Given the description of an element on the screen output the (x, y) to click on. 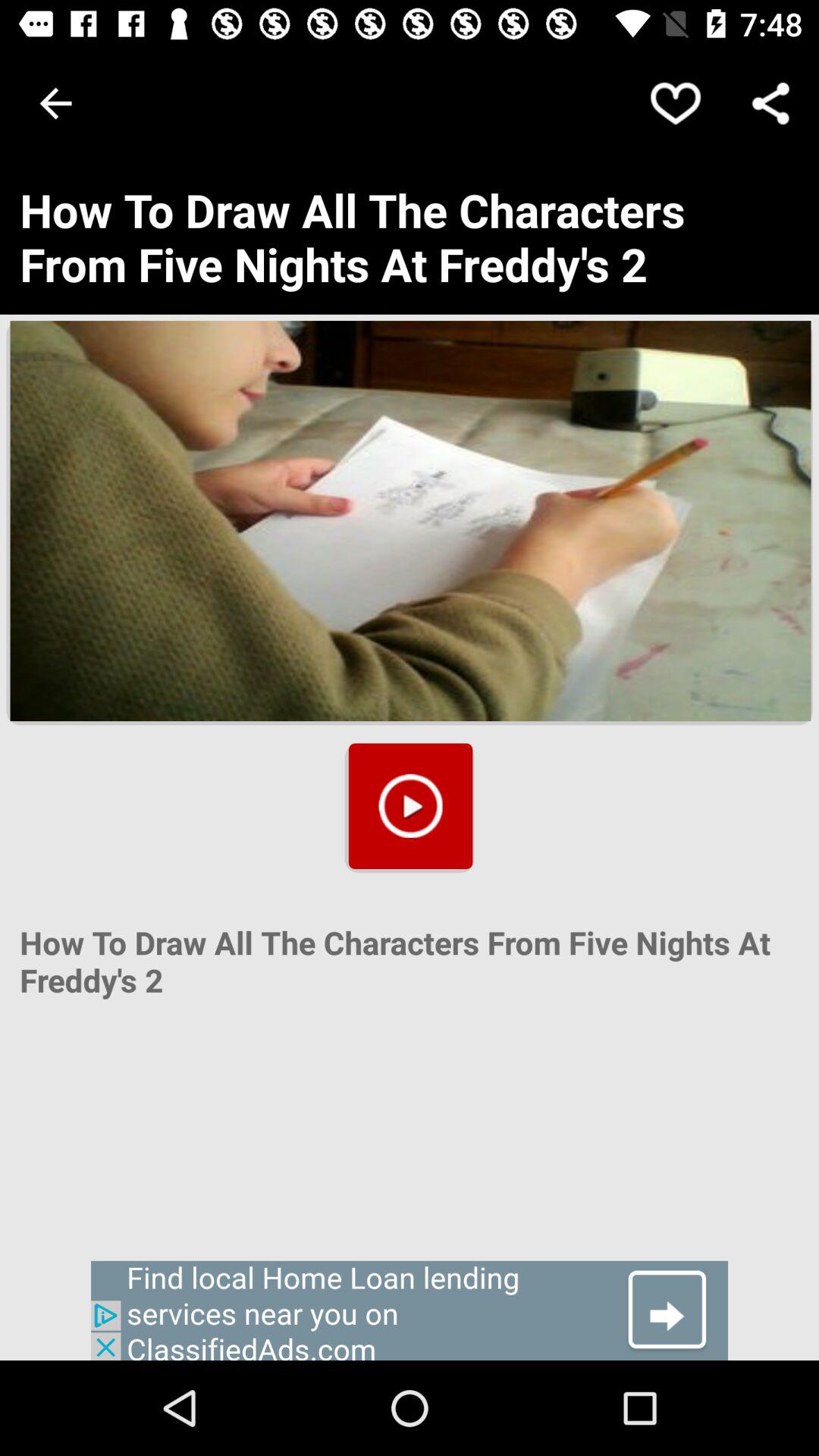
select advertisement (409, 1310)
